Given the description of an element on the screen output the (x, y) to click on. 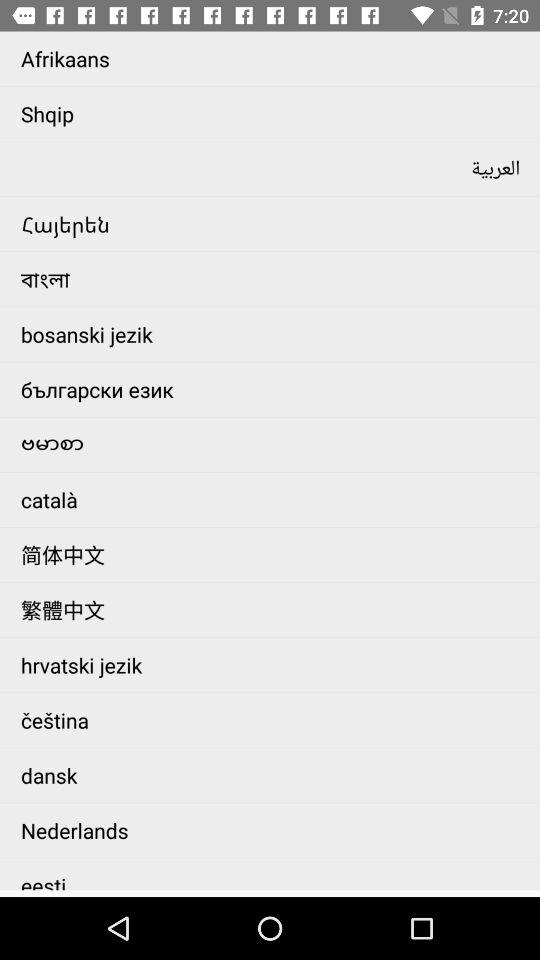
open item below the shqip item (275, 168)
